Given the description of an element on the screen output the (x, y) to click on. 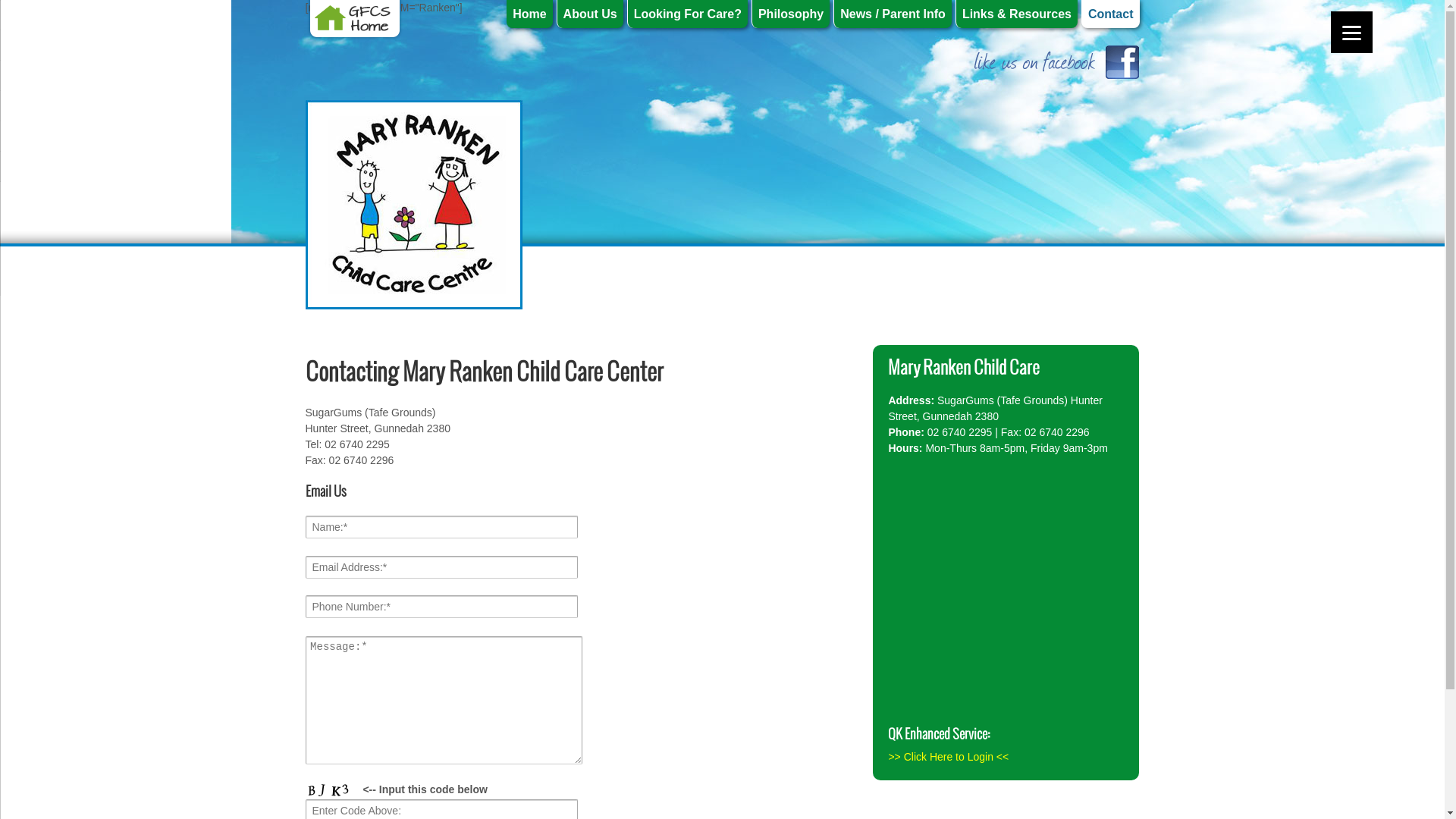
Contact Element type: text (1110, 14)
Links & Resources Element type: text (1016, 14)
Philosophy Element type: text (790, 14)
Looking For Care? Element type: text (687, 14)
News / Parent Info Element type: text (892, 14)
About Us Element type: text (589, 14)
>> Click Here to Login << Element type: text (948, 757)
Visit us on facebook Element type: hover (1050, 60)
Home Element type: text (529, 14)
